Given the description of an element on the screen output the (x, y) to click on. 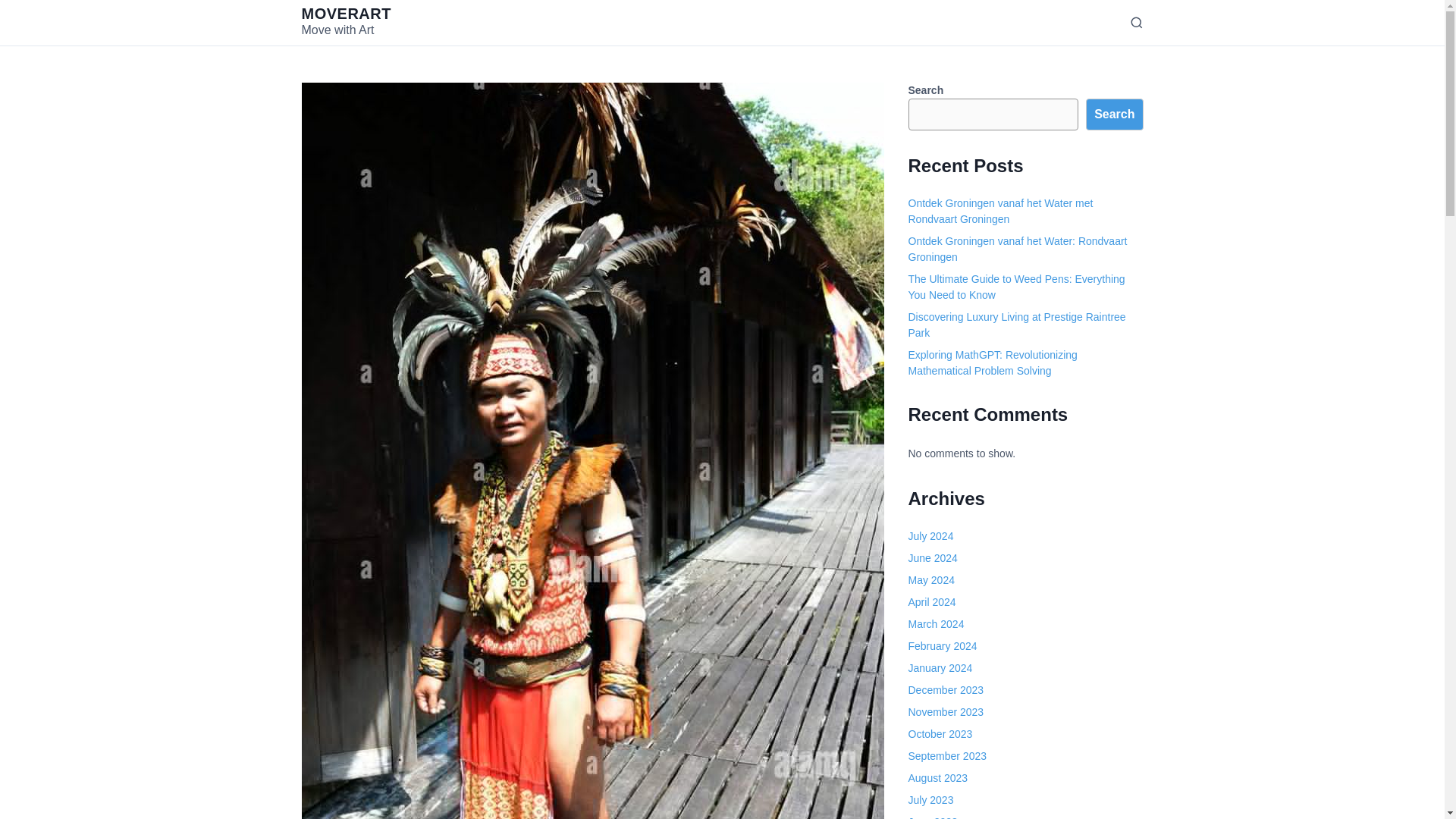
September 2023 (947, 756)
Ontdek Groningen vanaf het Water: Rondvaart Groningen (1017, 248)
March 2024 (935, 623)
June 2024 (933, 558)
November 2023 (946, 711)
June 2023 (933, 817)
Discovering Luxury Living at Prestige Raintree Park (1016, 325)
Search (1114, 114)
Ontdek Groningen vanaf het Water met Rondvaart Groningen (1000, 211)
May 2024 (931, 580)
MOVERART (346, 13)
The Ultimate Guide to Weed Pens: Everything You Need to Know (1016, 286)
July 2024 (930, 535)
July 2023 (930, 799)
April 2024 (932, 602)
